Given the description of an element on the screen output the (x, y) to click on. 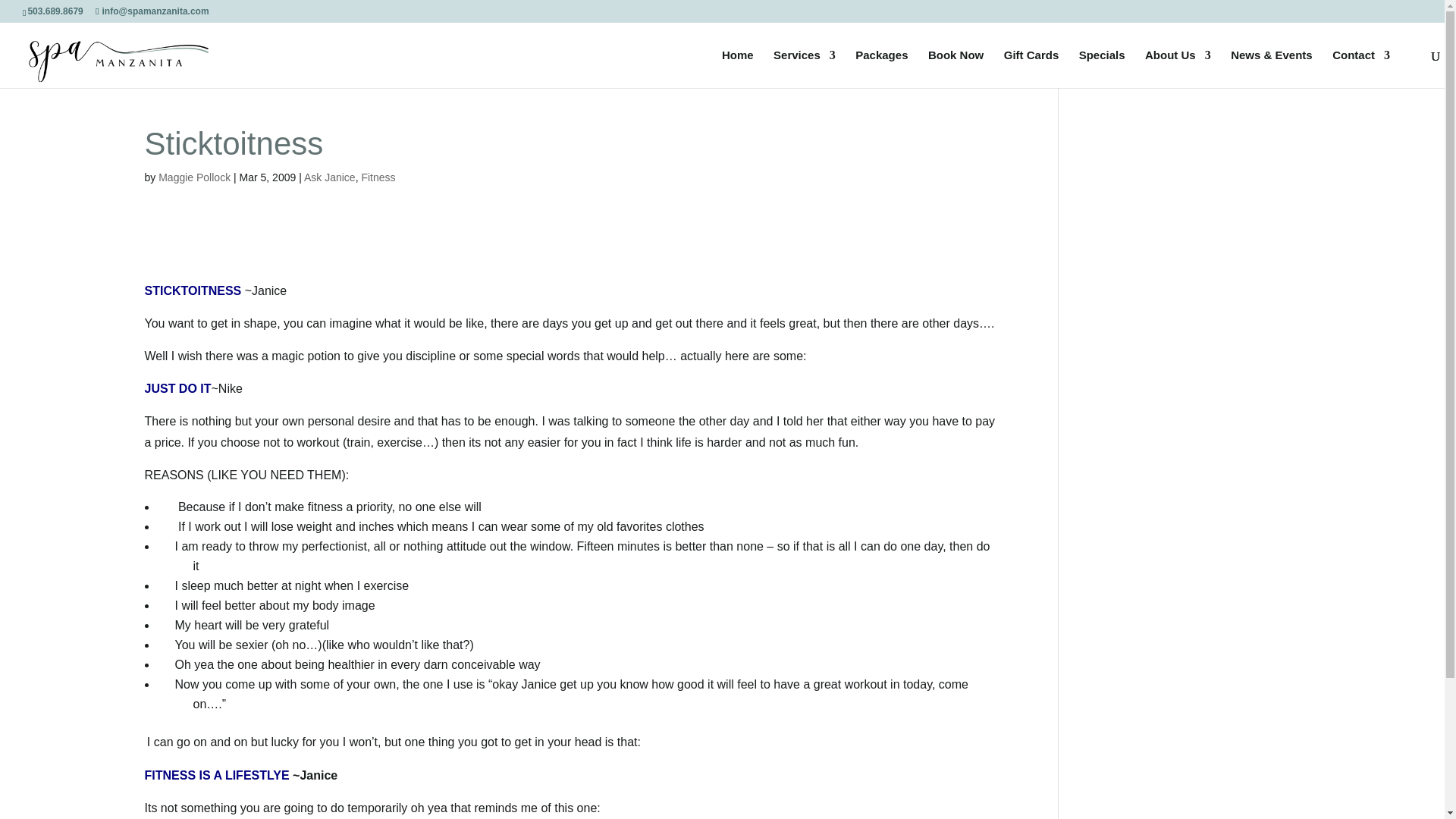
Posts by Maggie Pollock (194, 177)
Packages (881, 68)
Contact (1361, 68)
Specials (1101, 68)
About Us (1177, 68)
503.689.8679 (58, 10)
Gift Cards (1031, 68)
Book Now (956, 68)
Services (804, 68)
